Given the description of an element on the screen output the (x, y) to click on. 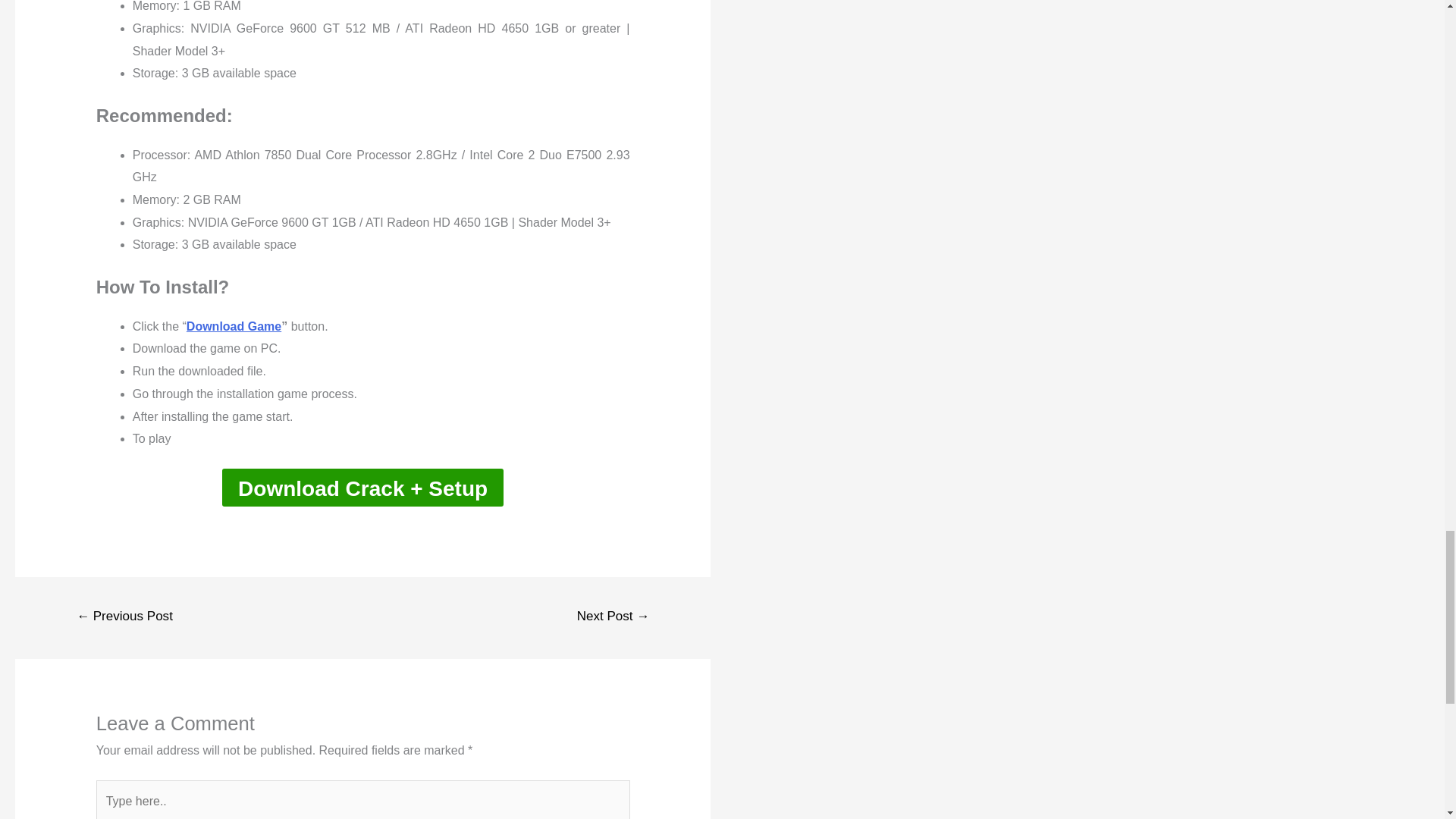
Download Game (233, 326)
